Given the description of an element on the screen output the (x, y) to click on. 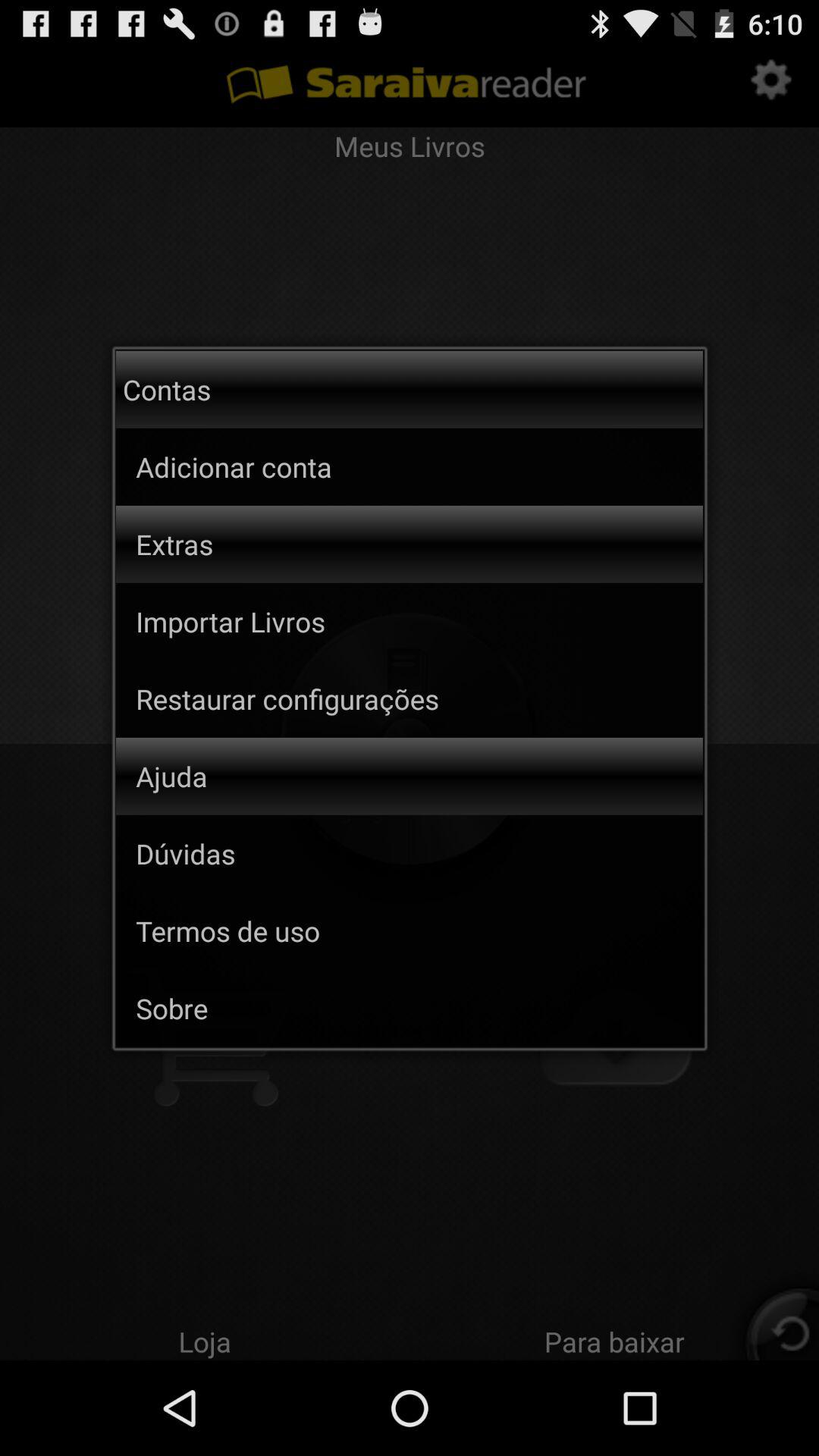
swipe to importar livros item (418, 621)
